Given the description of an element on the screen output the (x, y) to click on. 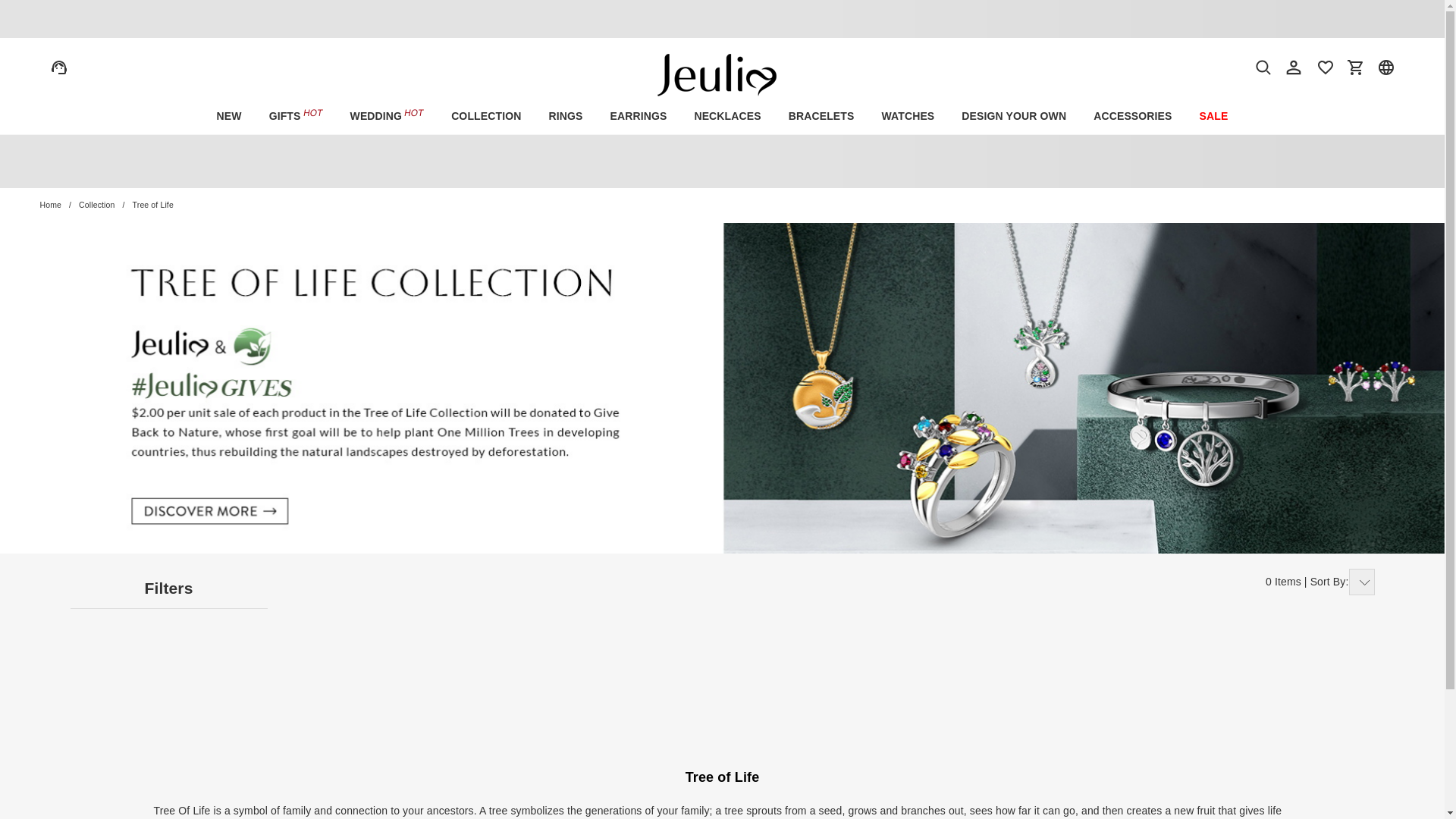
WEDDING (387, 116)
EARRINGS (637, 116)
NECKLACES (726, 116)
Jeulia New Zealand (722, 65)
RINGS (564, 116)
DESIGN YOUR OWN (1013, 116)
Collection (96, 205)
GIFTS (296, 116)
Tree of Life (152, 205)
NEW (229, 116)
